Given the description of an element on the screen output the (x, y) to click on. 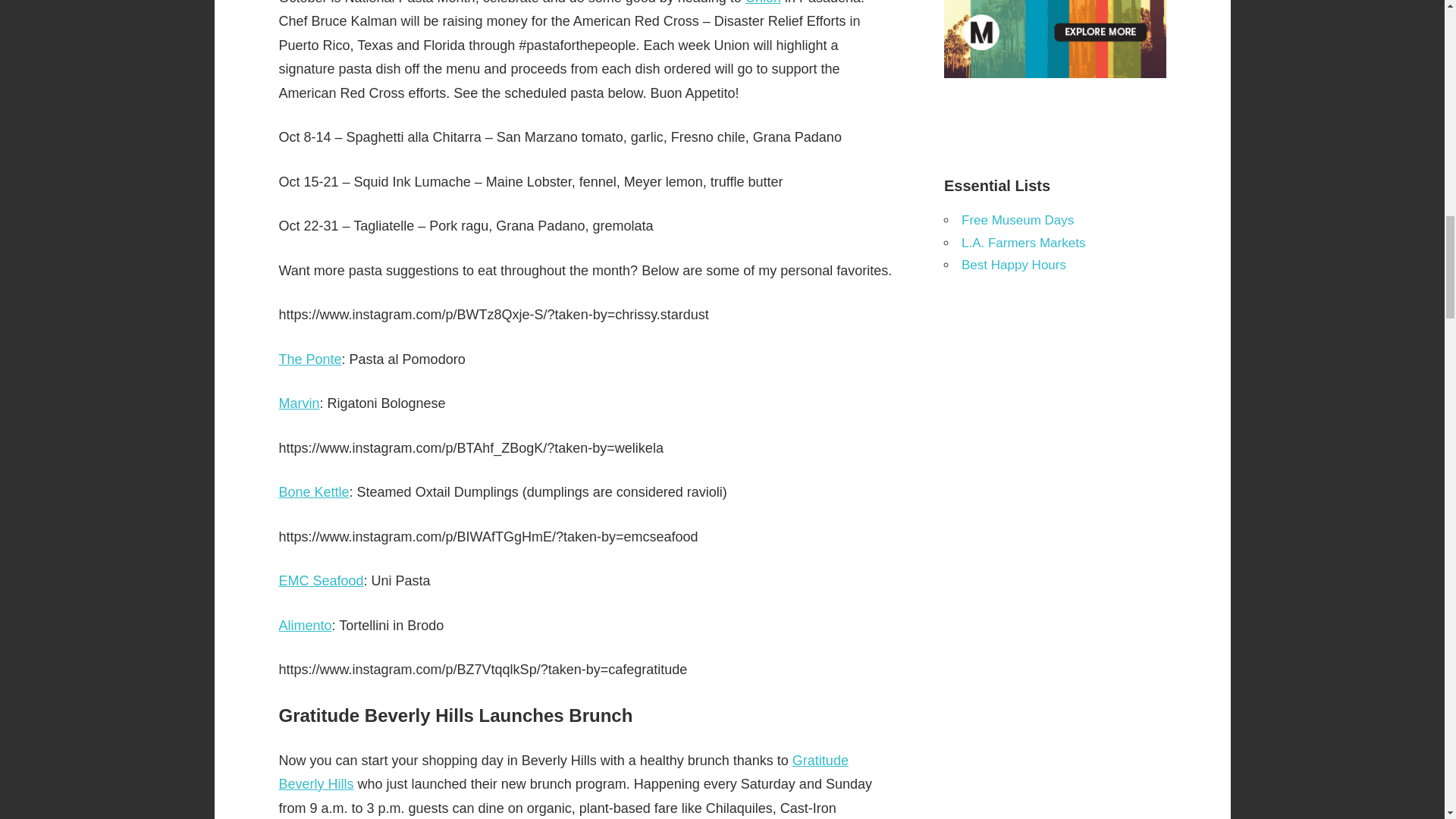
Bone Kettle (314, 491)
Marvin (299, 403)
EMC Seafood (321, 580)
Union (762, 2)
Gratitude Beverly Hills (563, 772)
The Ponte (310, 359)
Alimento (305, 625)
